Given the description of an element on the screen output the (x, y) to click on. 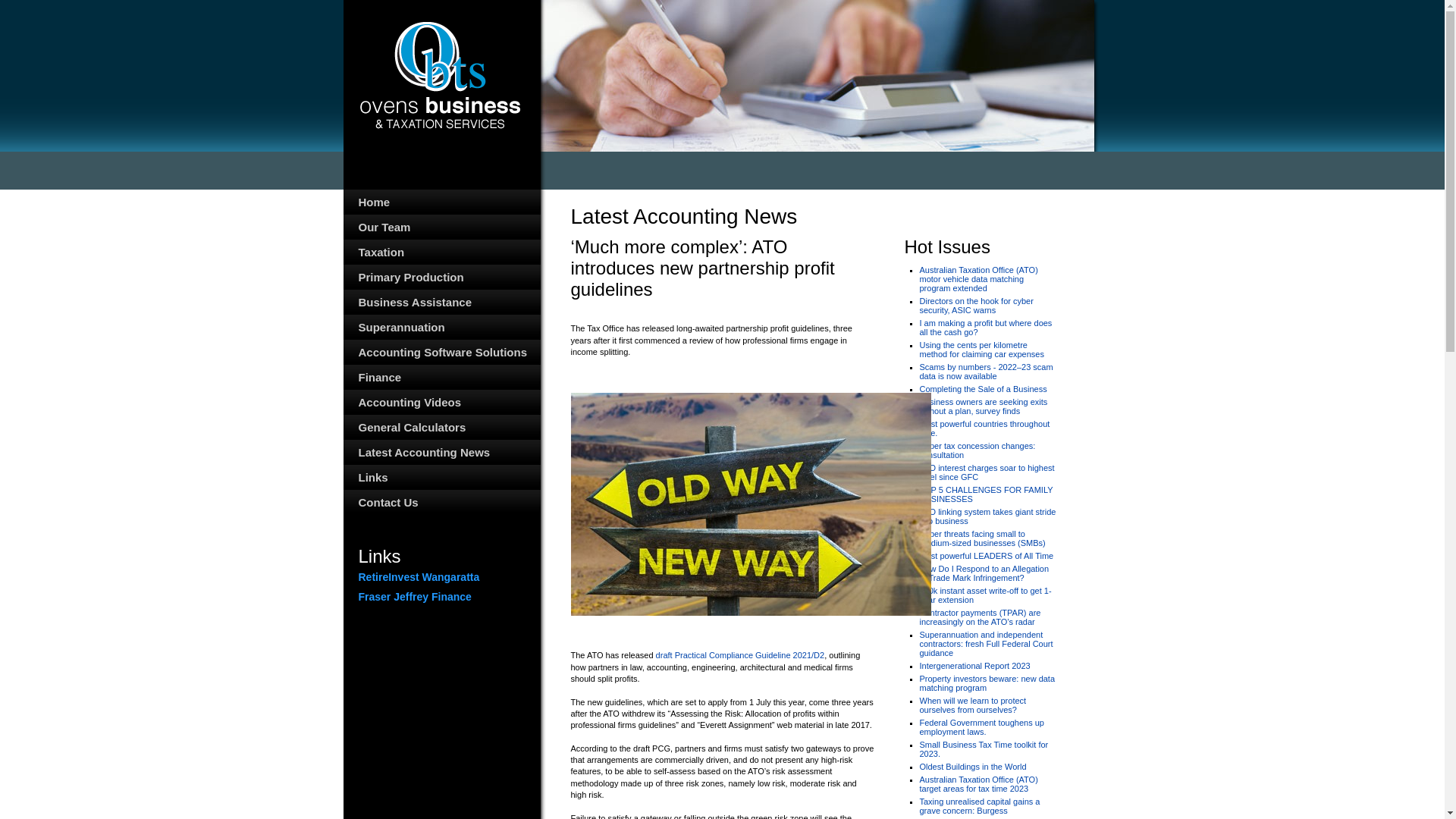
TOP 5 CHALLENGES FOR FAMILY BUSINESSES Element type: text (985, 494)
When will we learn to protect ourselves from ourselves? Element type: text (972, 705)
ATO interest charges soar to highest level since GFC Element type: text (986, 472)
I am making a profit but where does all the cash go? Element type: text (985, 327)
draft Practical Compliance Guideline 2021/D2 Element type: text (740, 654)
Cyber threats facing small to medium-sized businesses (SMBs) Element type: text (981, 538)
Super tax concession changes: consultation Element type: text (977, 450)
Our Team Element type: text (440, 226)
Contact Us Element type: text (440, 501)
Intergenerational Report 2023 Element type: text (974, 665)
$20k instant asset write-off to get 1-year extension Element type: text (985, 595)
Home Element type: text (440, 201)
General Calculators Element type: text (440, 426)
Links Element type: text (440, 476)
Taxing unrealised capital gains a grave concern: Burgess Element type: text (979, 806)
Business Assistance Element type: text (440, 301)
Latest Accounting News Element type: text (440, 451)
Directors on the hook for cyber security, ASIC warns Element type: text (975, 305)
Property investors beware: new data matching program Element type: text (986, 683)
Completing the Sale of a Business Element type: text (982, 388)
Small Business Tax Time toolkit for 2023. Element type: text (983, 749)
Accounting Videos Element type: text (440, 401)
Fraser Jeffrey Finance Element type: text (440, 596)
ATO linking system takes giant stride into business Element type: text (987, 516)
Oldest Buildings in the World Element type: text (972, 766)
Most powerful LEADERS of All Time Element type: text (986, 555)
Most powerful countries throughout time. Element type: text (984, 428)
Accounting Software Solutions Element type: text (440, 351)
Taxation Element type: text (440, 251)
Superannuation Element type: text (440, 326)
Finance Element type: text (440, 376)
RetireInvest Wangaratta Element type: text (440, 576)
Federal Government toughens up employment laws. Element type: text (981, 727)
Primary Production Element type: text (440, 276)
